Given the description of an element on the screen output the (x, y) to click on. 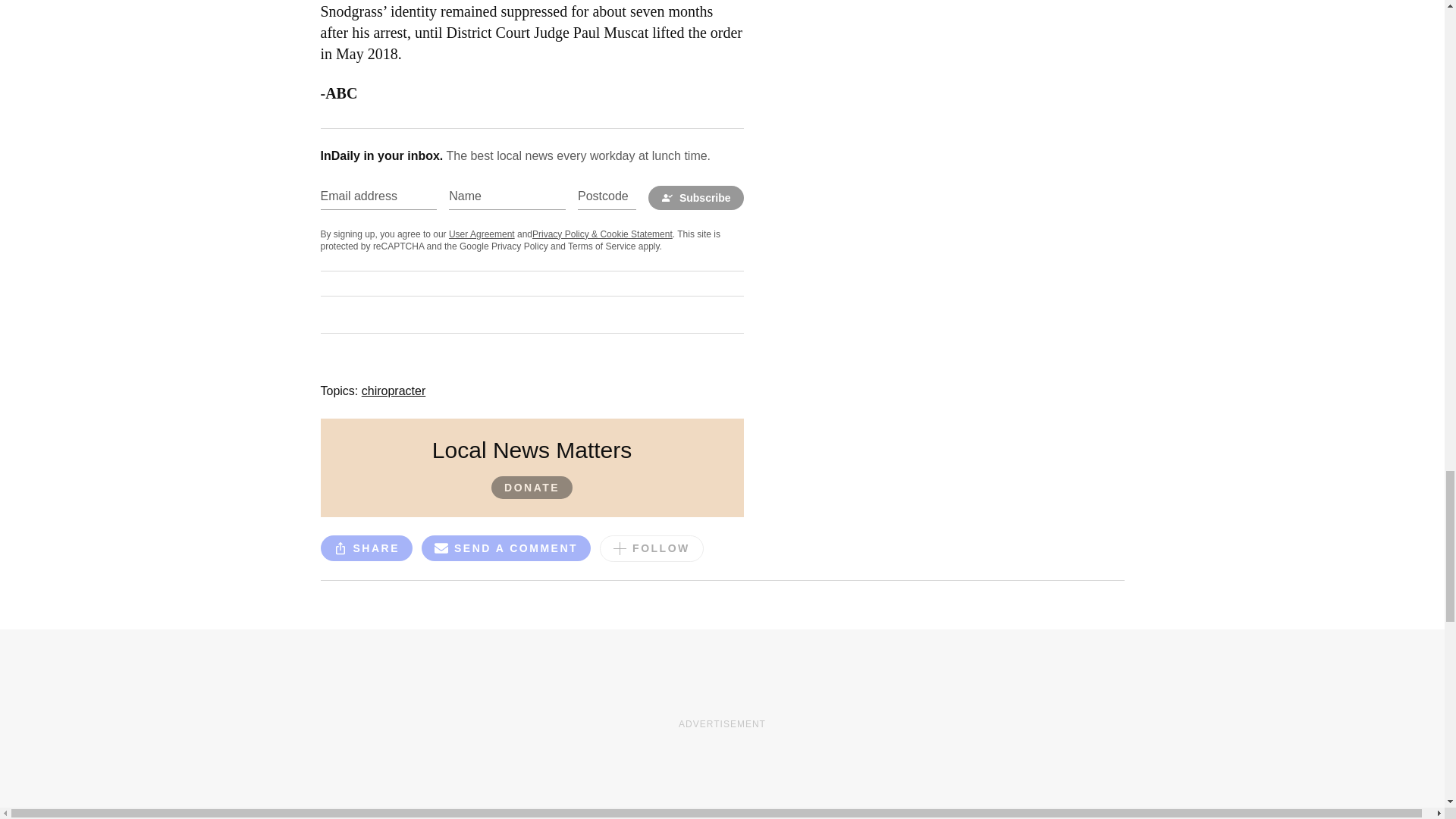
SHARE (366, 548)
SEND A COMMENT (506, 548)
Subscribe (695, 197)
FOLLOW (651, 548)
SEND A COMMENT (506, 550)
User Agreement (481, 234)
DONATE (532, 486)
chiropracter (393, 390)
